Given the description of an element on the screen output the (x, y) to click on. 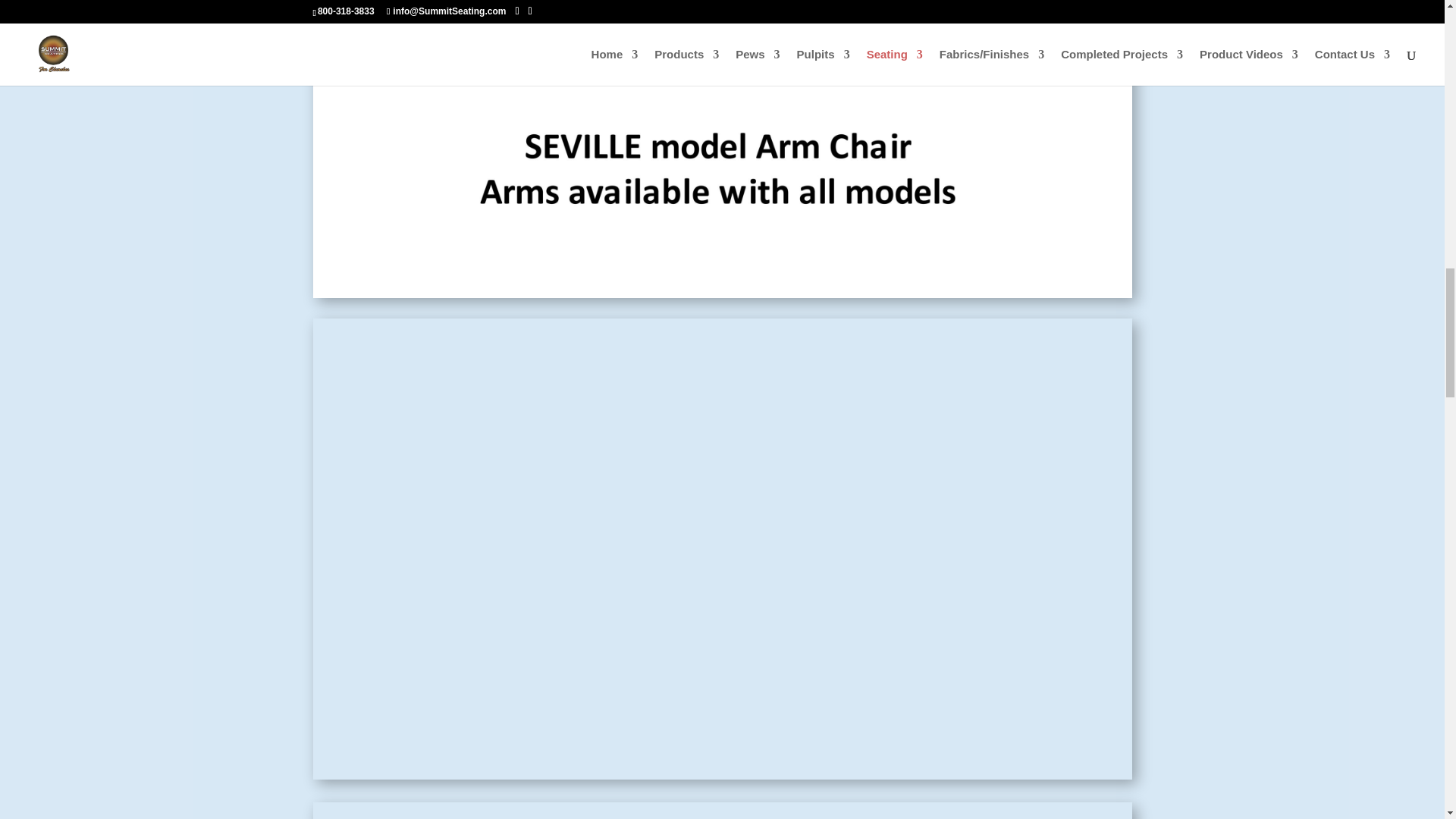
SEVILLE Chair-Combo Colors-2022 (722, 810)
